Given the description of an element on the screen output the (x, y) to click on. 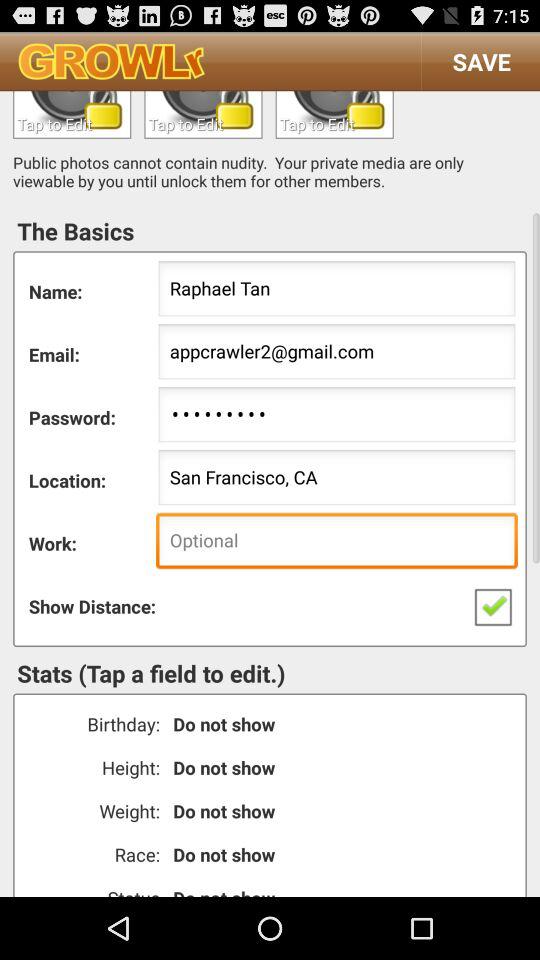
add optional work information (336, 542)
